Given the description of an element on the screen output the (x, y) to click on. 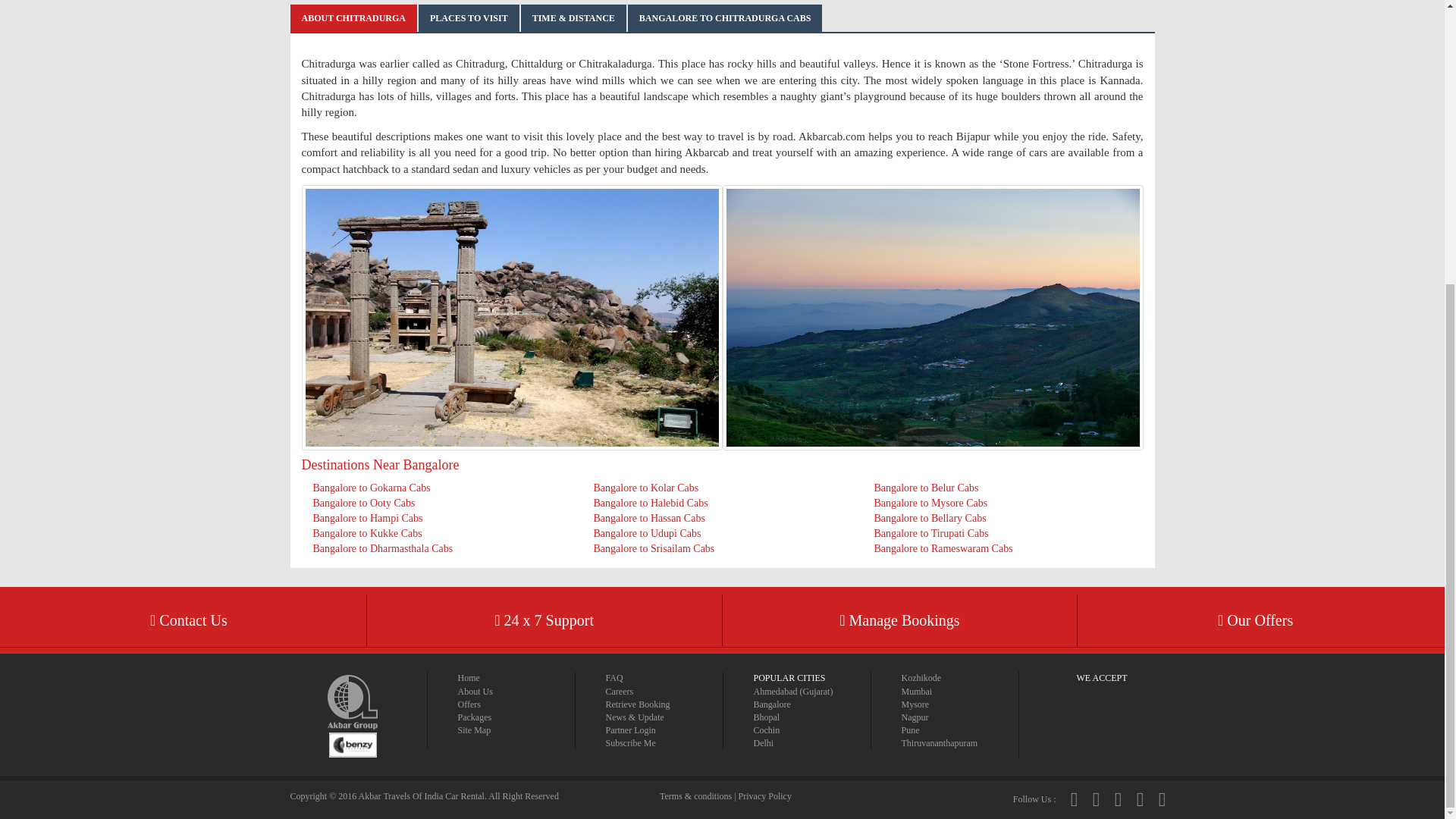
Bangalore to Hampi Cabs (367, 518)
Bangalore to Belur Cabs (925, 487)
Bangalore to Gokarna Cabs (371, 487)
Bangalore to Dharmasthala Cabs (382, 548)
Bangalore to Kolar Cabs (645, 487)
Bangalore to Bellary Cabs (929, 518)
PLACES TO VISIT (469, 18)
Bangalore to Mysore Cabs (930, 502)
Akbar Group (351, 710)
Bangalore to Ooty Cabs (363, 502)
